Given the description of an element on the screen output the (x, y) to click on. 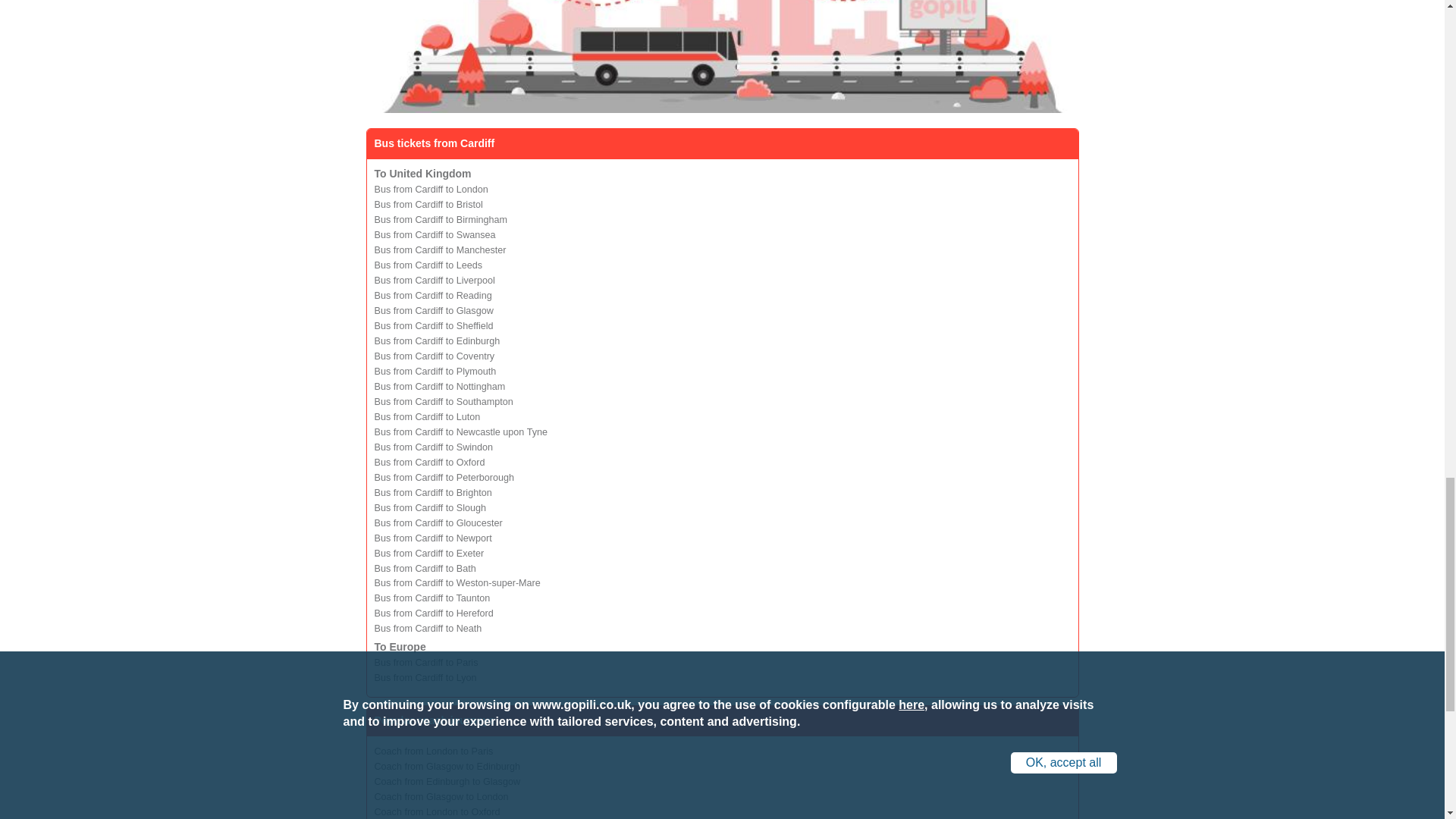
Bus from Cardiff to Leeds (428, 265)
Bus from Cardiff to Bristol (428, 204)
Bus from Cardiff to Nottingham (439, 386)
Bus from Cardiff to Plymouth (435, 371)
Bus from Cardiff to Sheffield (433, 326)
Bus from Cardiff to Liverpool (434, 280)
Bus from Cardiff to Luton (427, 416)
Bus from Cardiff to Coventry (434, 356)
Bus from Cardiff to Southampton (443, 401)
Bus from Cardiff to Glasgow (433, 310)
Bus from Cardiff to Manchester (440, 249)
Bus from Cardiff to Birmingham (440, 219)
Bus from Cardiff to Edinburgh (437, 340)
Bus from Cardiff to London (430, 189)
Bus from Cardiff to Reading (433, 295)
